Given the description of an element on the screen output the (x, y) to click on. 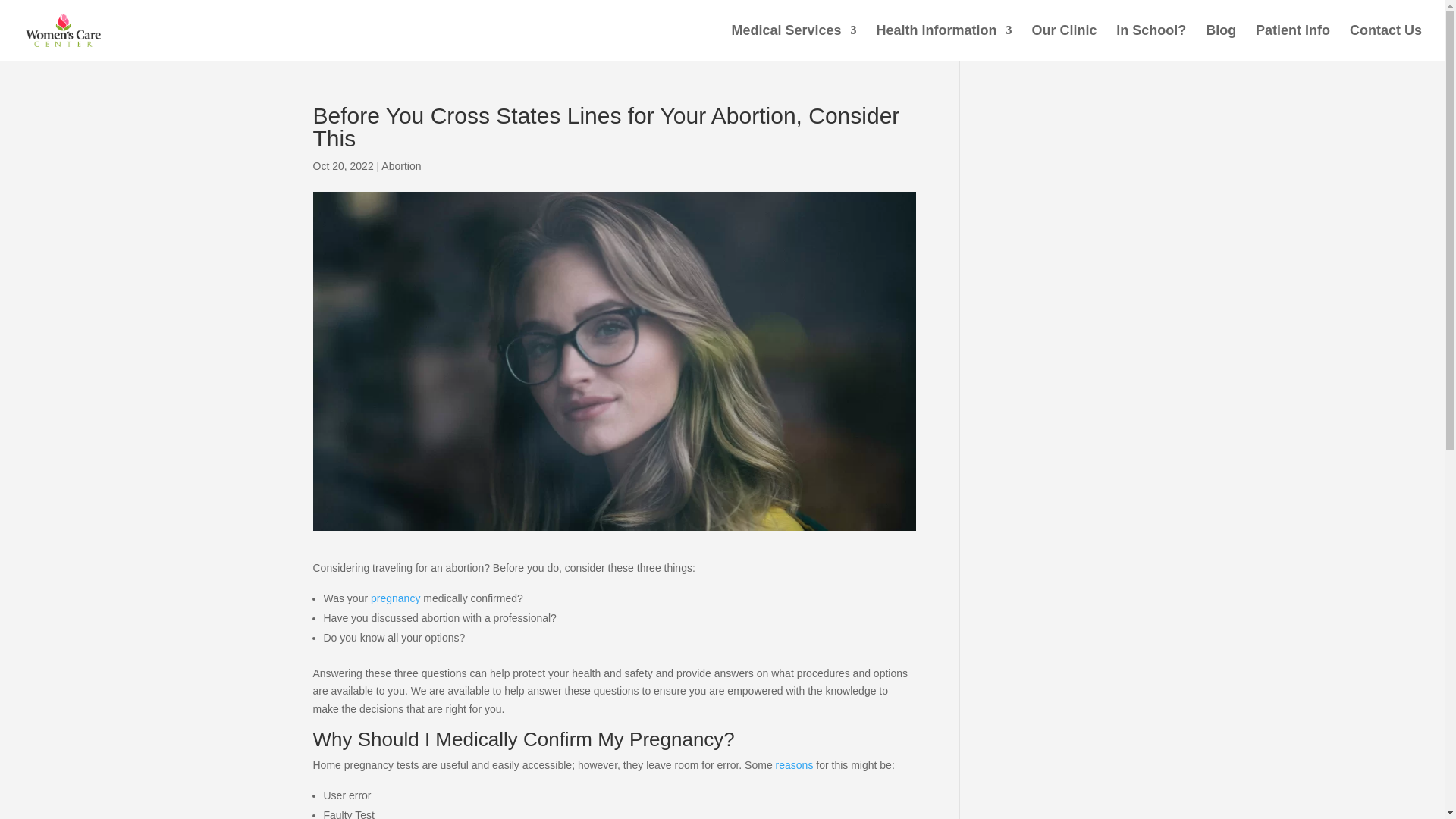
Contact Us (1385, 42)
Patient Info (1292, 42)
pregnancy (395, 598)
Abortion (400, 165)
Our Clinic (1063, 42)
Health Information (943, 42)
reasons (793, 765)
Medical Services (794, 42)
In School? (1151, 42)
